Given the description of an element on the screen output the (x, y) to click on. 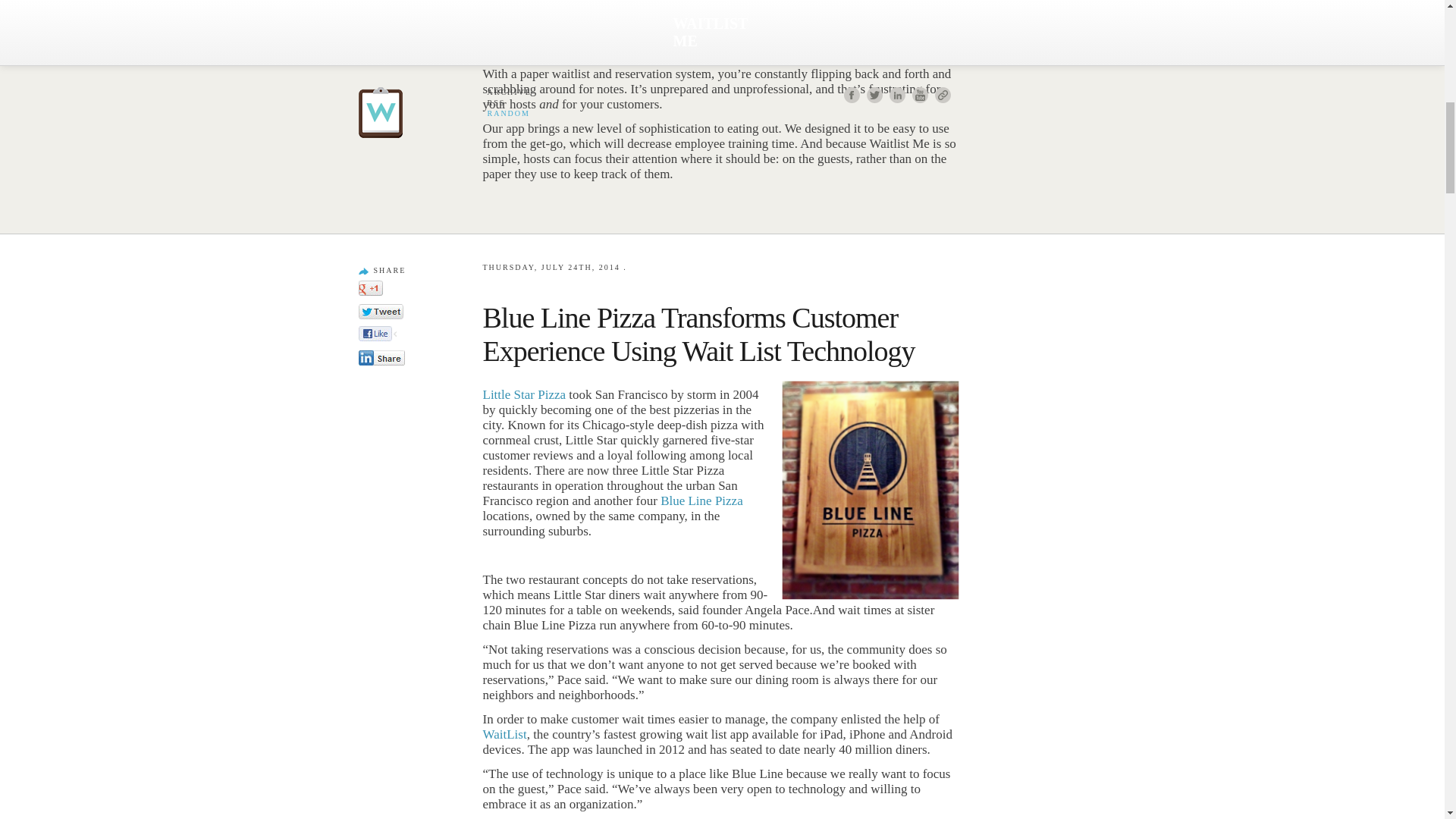
WaitList (503, 734)
Little Star Pizza (523, 394)
Blue Line Pizza (701, 500)
Be the first one to tweet this article! (398, 312)
